Given the description of an element on the screen output the (x, y) to click on. 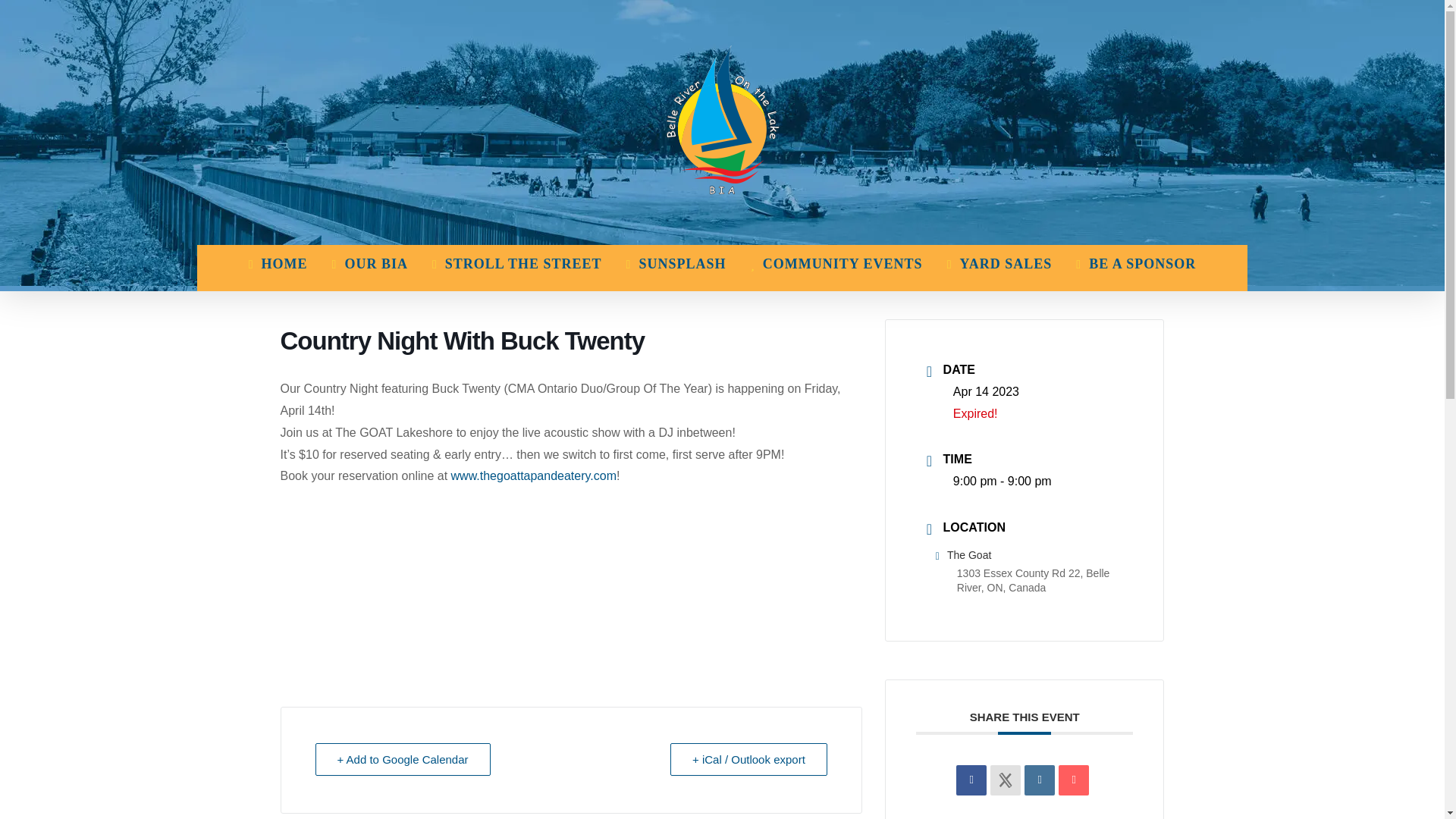
SUNSPLASH (676, 264)
STROLL THE STREET (517, 264)
YARD SALES (999, 264)
www.thegoattapandeatery.com (534, 475)
Share on Facebook (971, 779)
BE A SPONSOR (1135, 264)
Email (1073, 779)
COMMUNITY EVENTS (835, 264)
X Social Network (1005, 779)
OUR BIA (369, 264)
HOME (277, 264)
Linkedin (1039, 779)
